Given the description of an element on the screen output the (x, y) to click on. 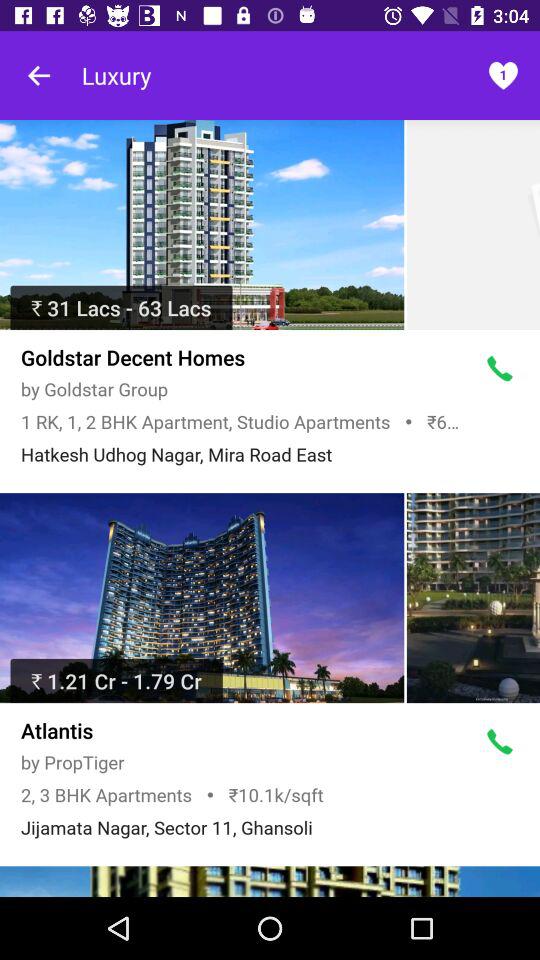
open item to the left of the luxury item (39, 75)
